Given the description of an element on the screen output the (x, y) to click on. 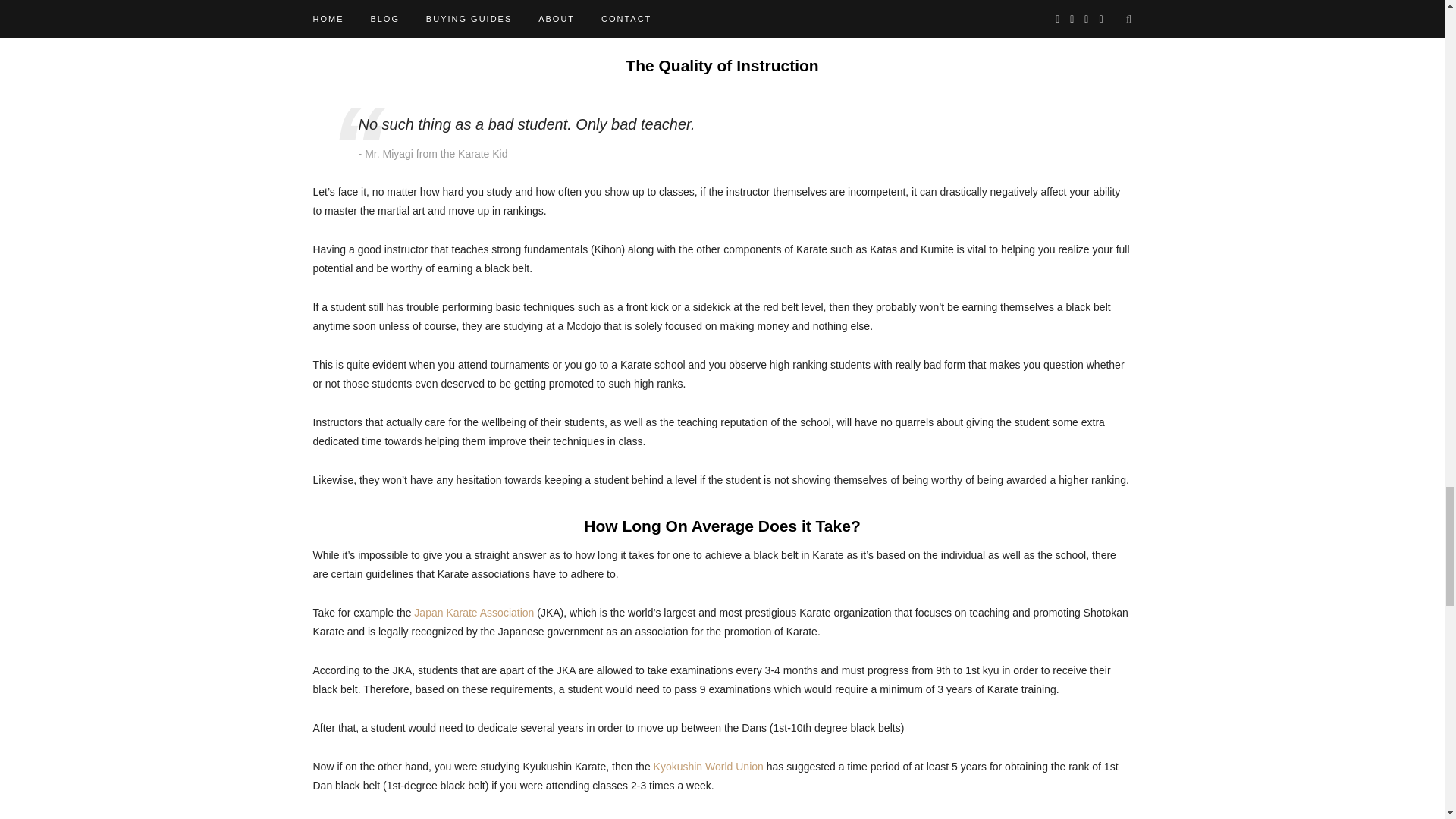
Japan Karate Association (473, 612)
Kyokushin World Union (707, 766)
